Given the description of an element on the screen output the (x, y) to click on. 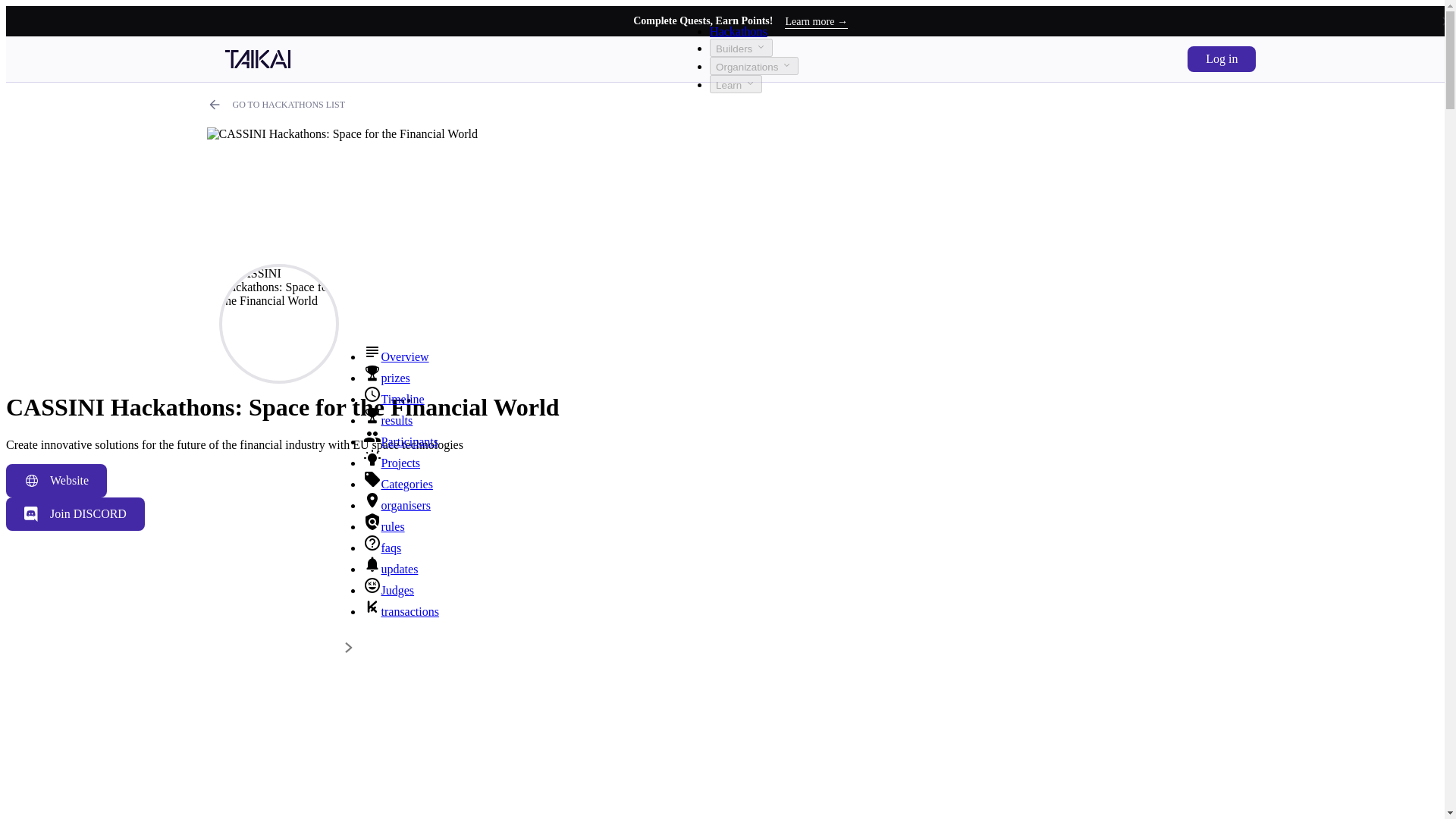
Organizations (753, 65)
results (387, 420)
rules (383, 526)
TAIKAI (256, 63)
Overview (395, 356)
GO TO HACKATHONS LIST (275, 104)
Join DISCORD (74, 513)
organisers (395, 504)
Hackathons (738, 31)
prizes (385, 377)
